Given the description of an element on the screen output the (x, y) to click on. 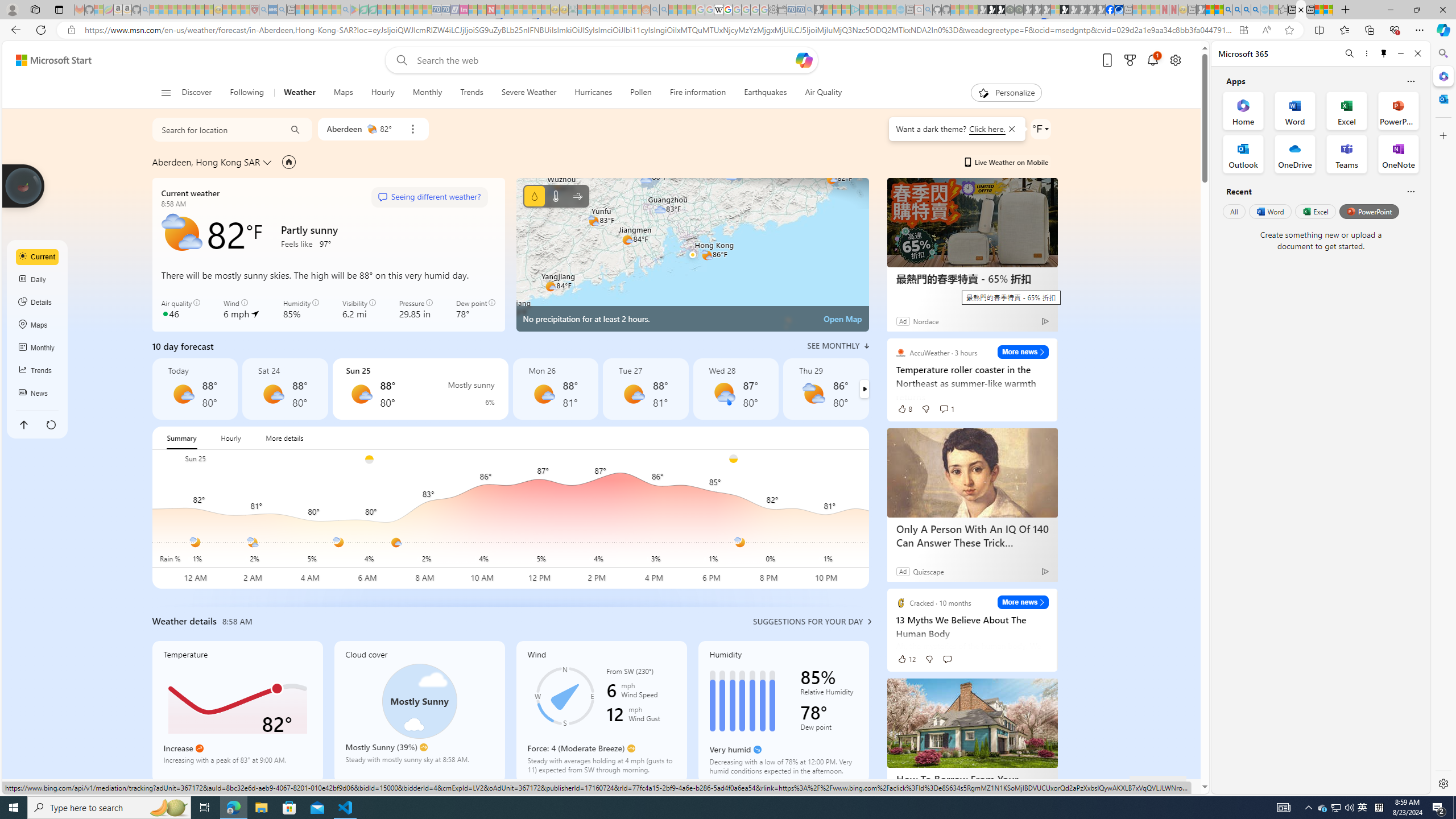
Word (1269, 210)
Hourly (230, 437)
Trends (37, 370)
Monthly (427, 92)
Precipitation (534, 195)
Temperature (237, 711)
